Given the description of an element on the screen output the (x, y) to click on. 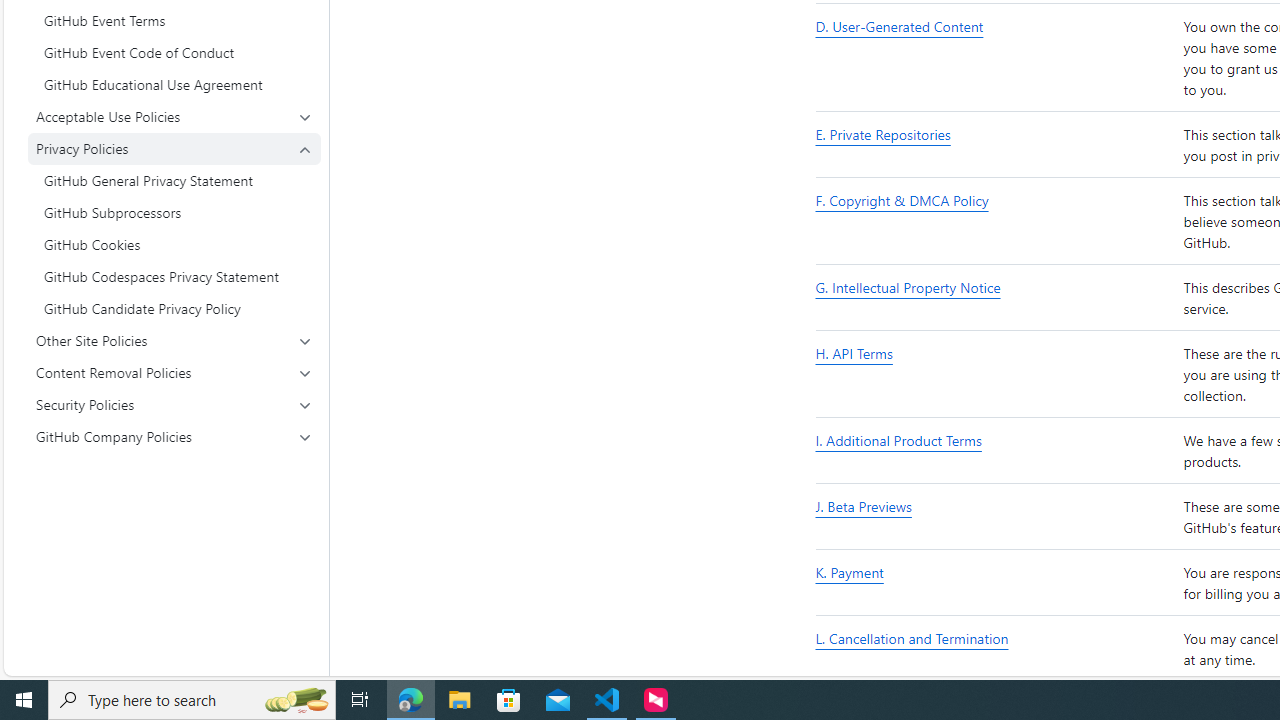
Content Removal Policies (174, 372)
GitHub Candidate Privacy Policy (174, 308)
GitHub General Privacy Statement (174, 180)
GitHub Event Terms (174, 20)
Security Policies (174, 404)
I. Additional Product Terms (995, 451)
GitHub Codespaces Privacy Statement (174, 276)
G. Intellectual Property Notice (907, 287)
GitHub Cookies (174, 244)
L. Cancellation and Termination (995, 649)
L. Cancellation and Termination (911, 638)
J. Beta Previews (863, 506)
GitHub Subprocessors (174, 212)
GitHub Cookies (174, 244)
Other Site Policies (174, 340)
